Given the description of an element on the screen output the (x, y) to click on. 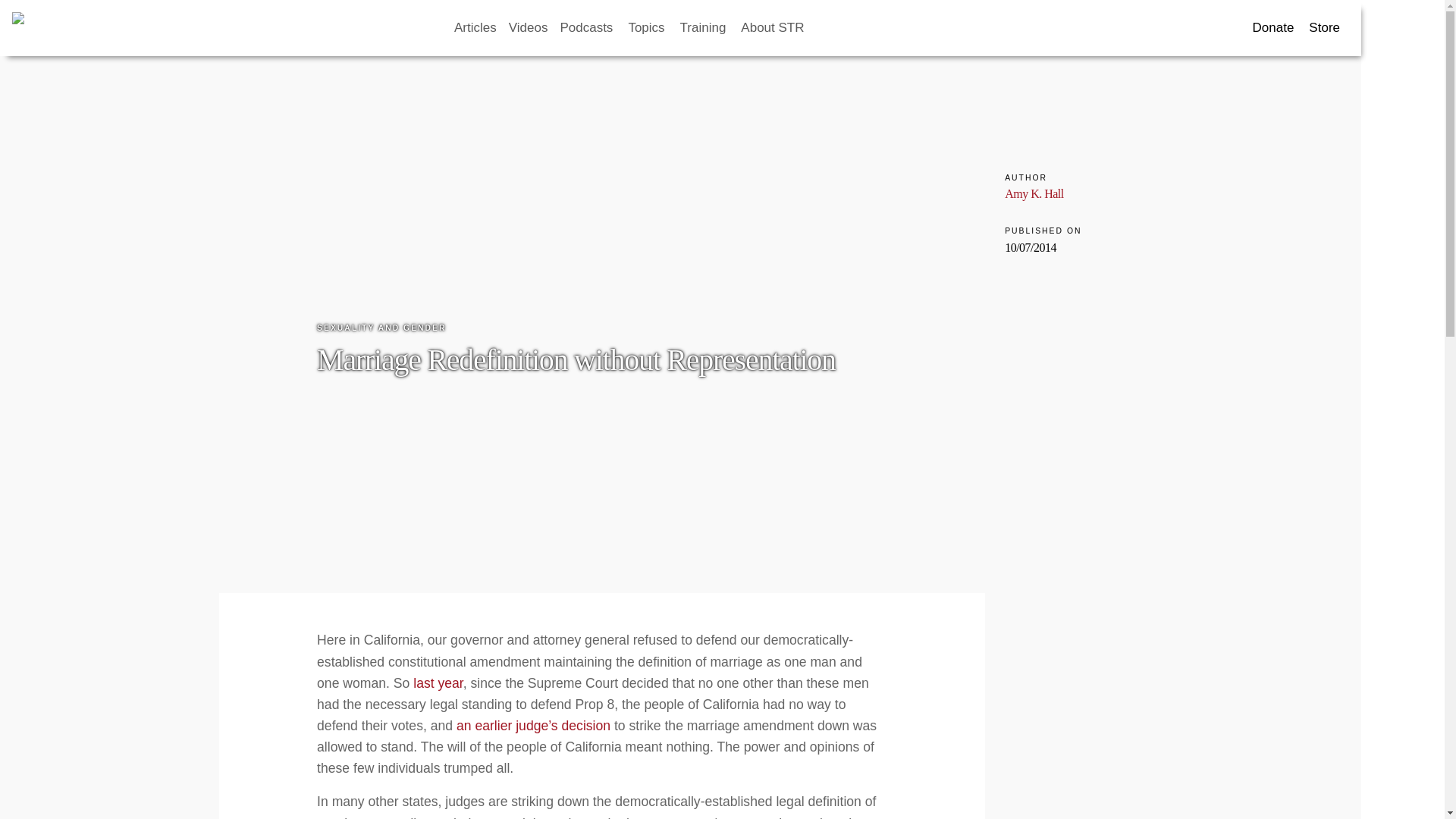
Articles (475, 28)
About STR (773, 28)
Training (704, 28)
Topics (646, 28)
Videos (528, 28)
Podcasts (587, 28)
